Given the description of an element on the screen output the (x, y) to click on. 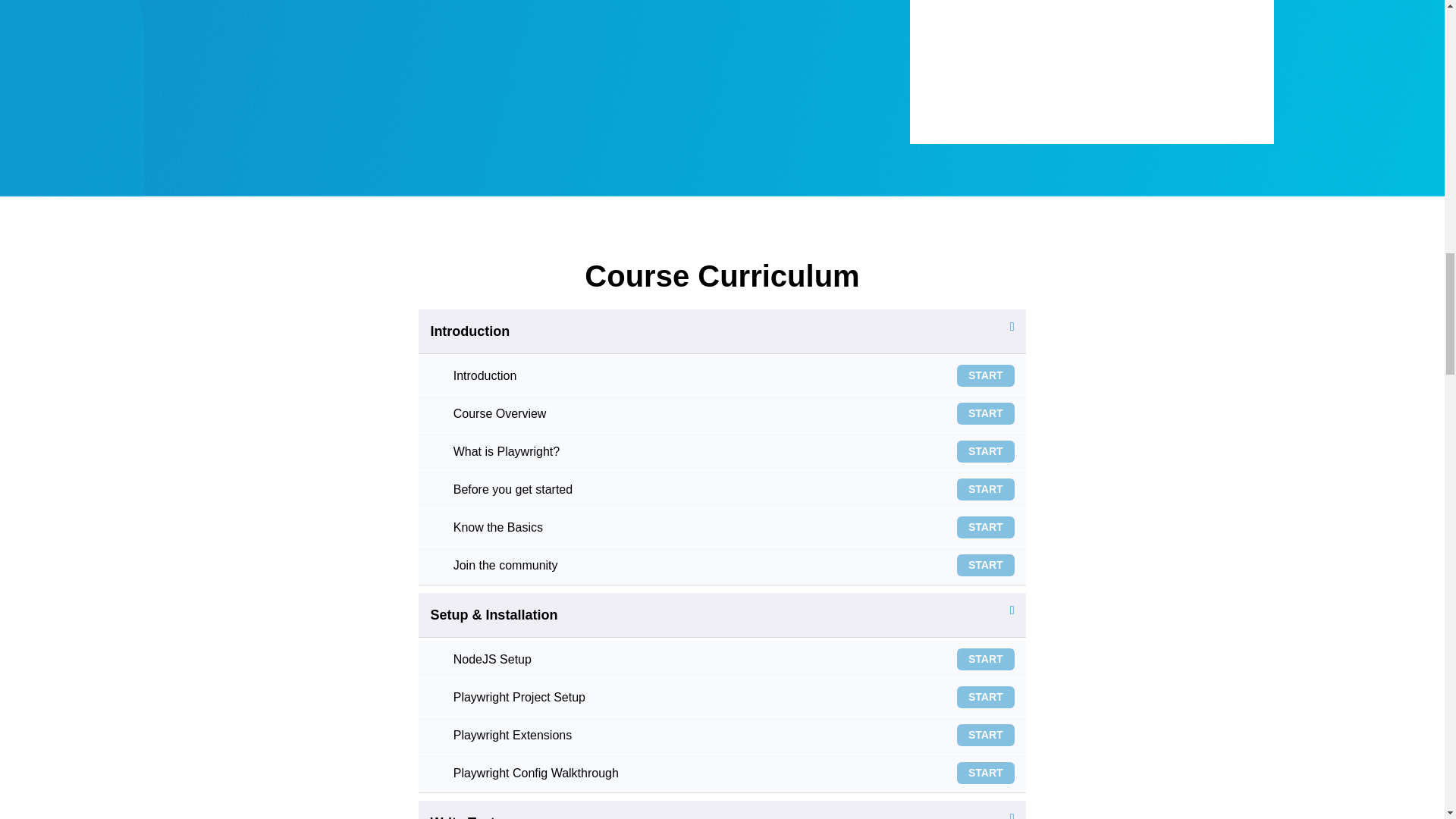
Write Tests (465, 816)
Introduction (719, 375)
